Given the description of an element on the screen output the (x, y) to click on. 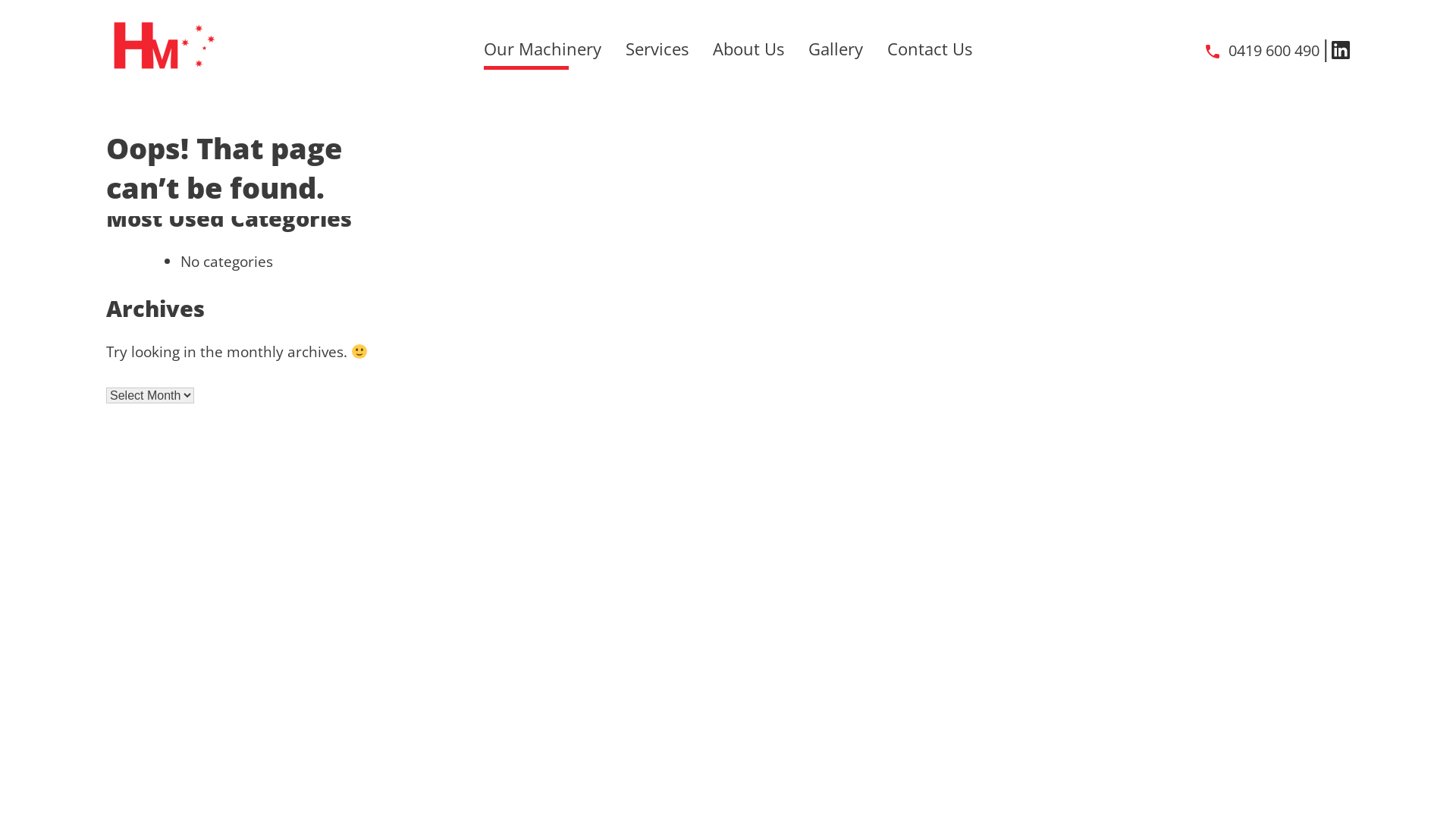
Search Element type: text (292, 173)
About Us Element type: text (748, 48)
0419 600 490 Element type: text (1261, 50)
Contact Us Element type: text (929, 48)
Our Machinery Element type: text (542, 48)
Services Element type: text (656, 48)
Gallery Element type: text (835, 48)
